Given the description of an element on the screen output the (x, y) to click on. 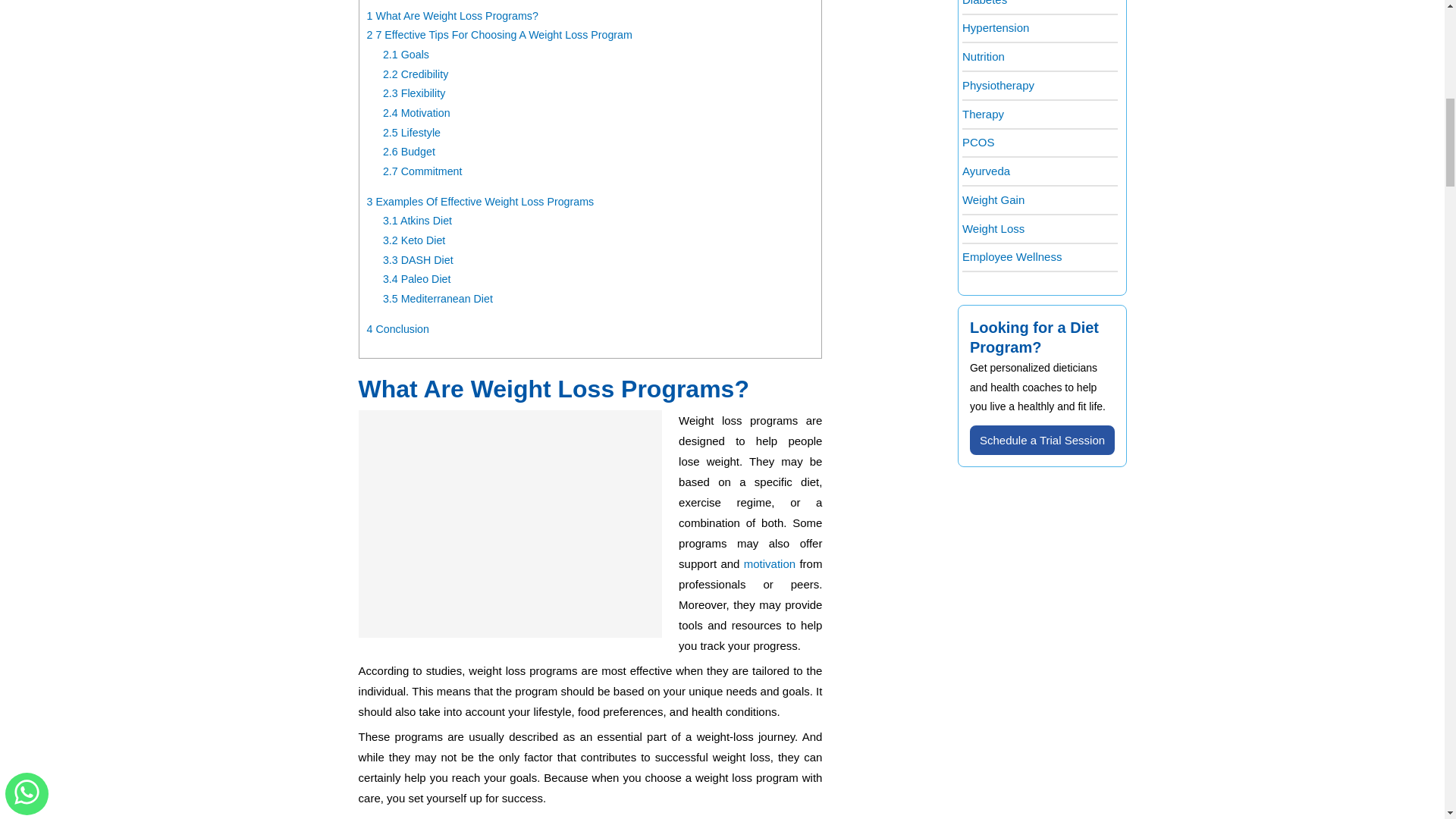
motivation (769, 563)
1 What Are Weight Loss Programs? (452, 15)
2 7 Effective Tips For Choosing A Weight Loss Program (498, 34)
